Given the description of an element on the screen output the (x, y) to click on. 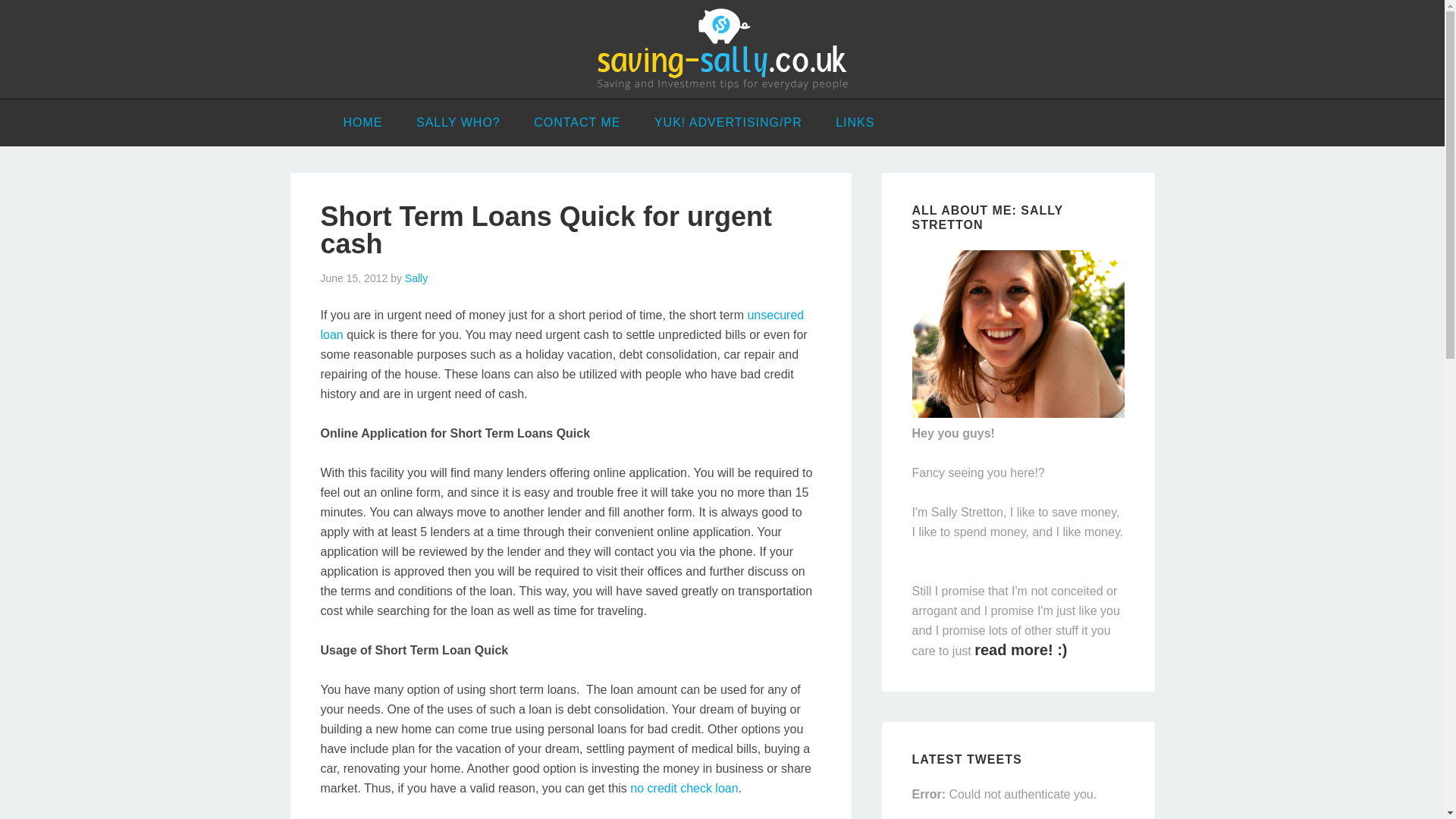
no credit check loan (684, 788)
read more (1020, 649)
unsecured loan (561, 324)
HOME (362, 122)
LINKS (855, 122)
SALLY'S SAVINGS BLOG PERSONAL FINANCE BLOG FOR REDUCING DEBT (721, 48)
Sally (416, 277)
CONTACT ME (576, 122)
SALLY WHO? (458, 122)
